Given the description of an element on the screen output the (x, y) to click on. 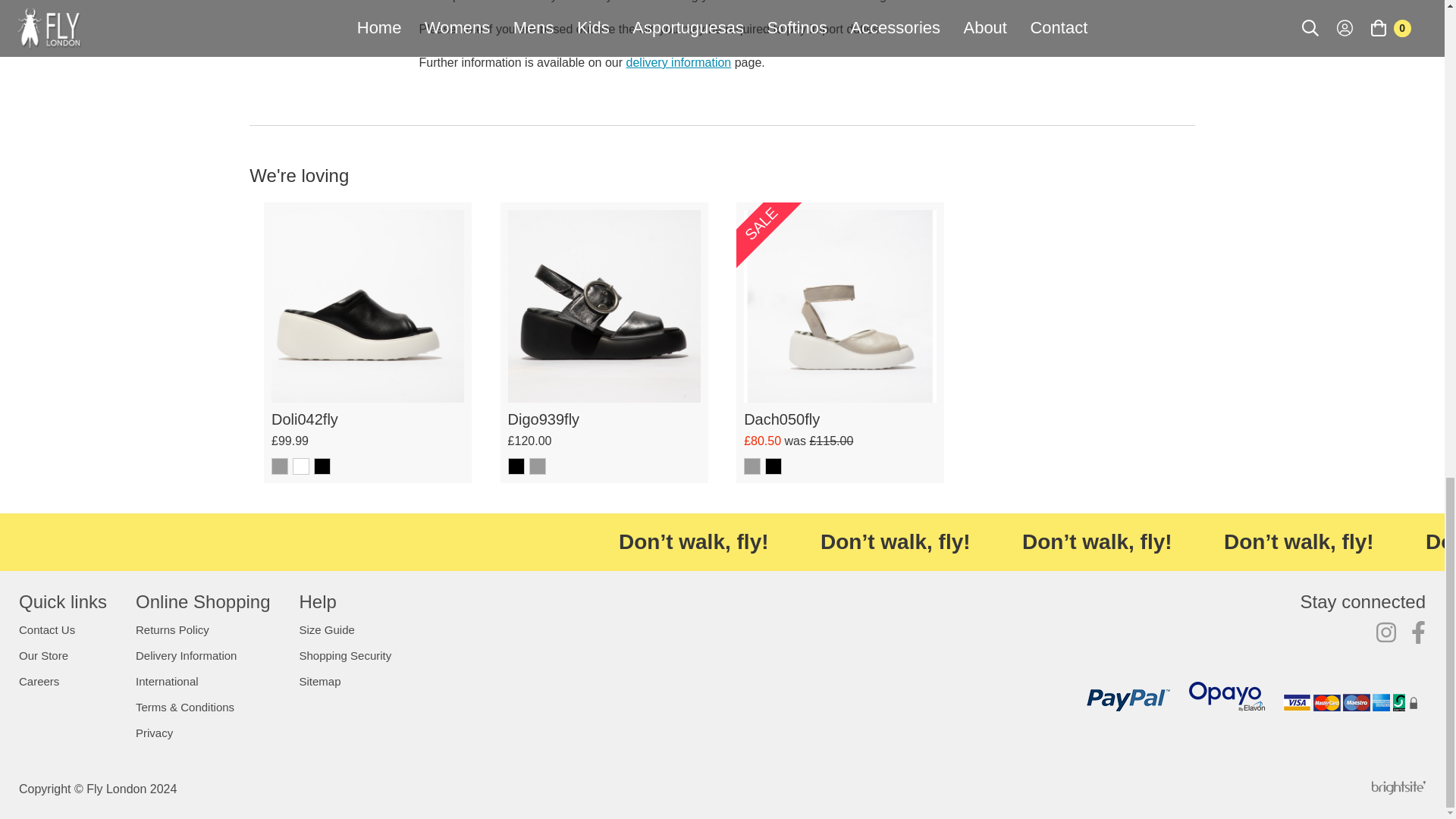
SILVER - P145050000 (752, 466)
BLACK - P145050002 (773, 466)
